Given the description of an element on the screen output the (x, y) to click on. 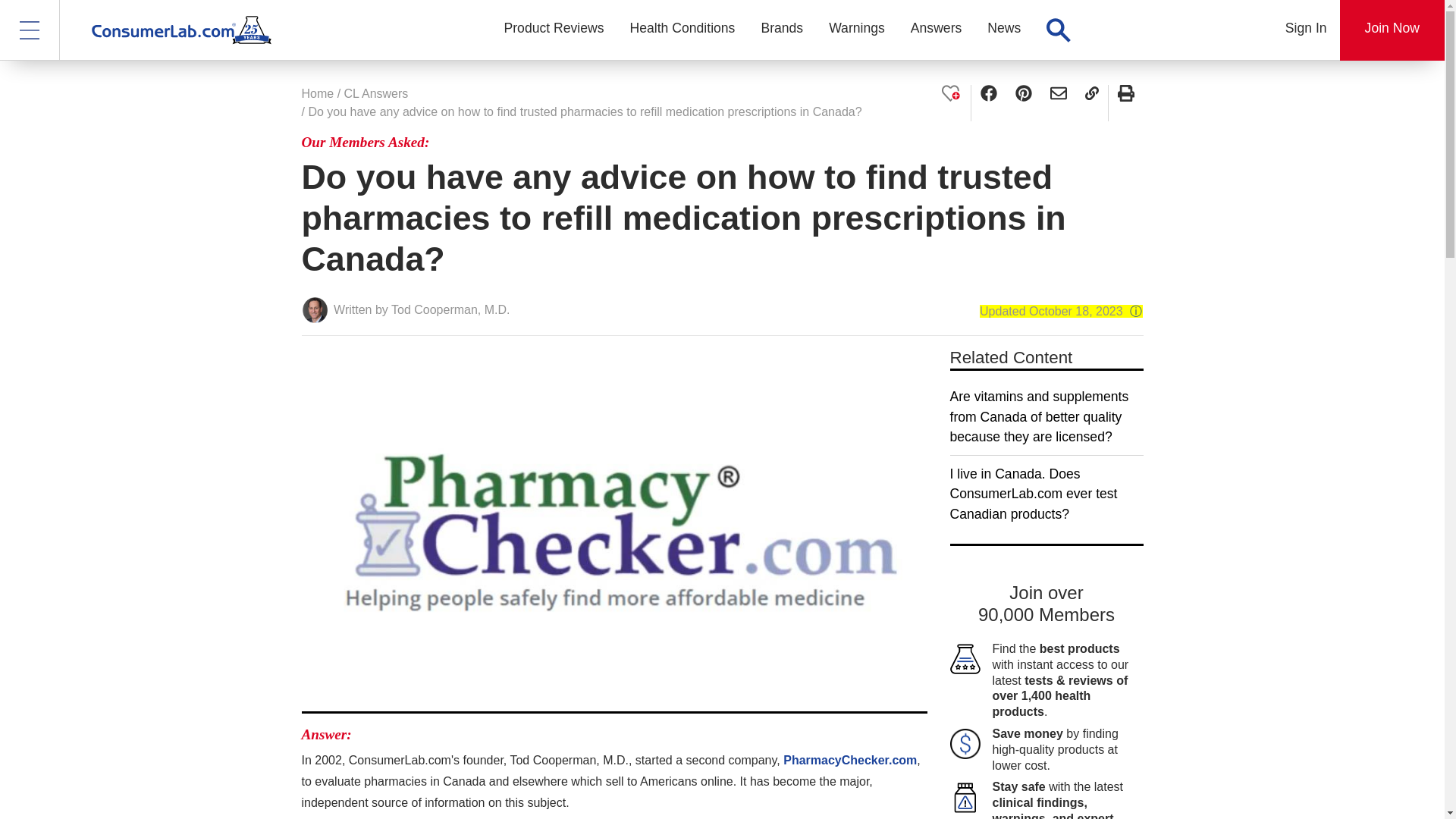
News (1003, 30)
Warnings (856, 30)
Sign In (1305, 30)
Brands (781, 30)
Health Conditions (682, 30)
Product Reviews (554, 30)
Answers (936, 30)
